Given the description of an element on the screen output the (x, y) to click on. 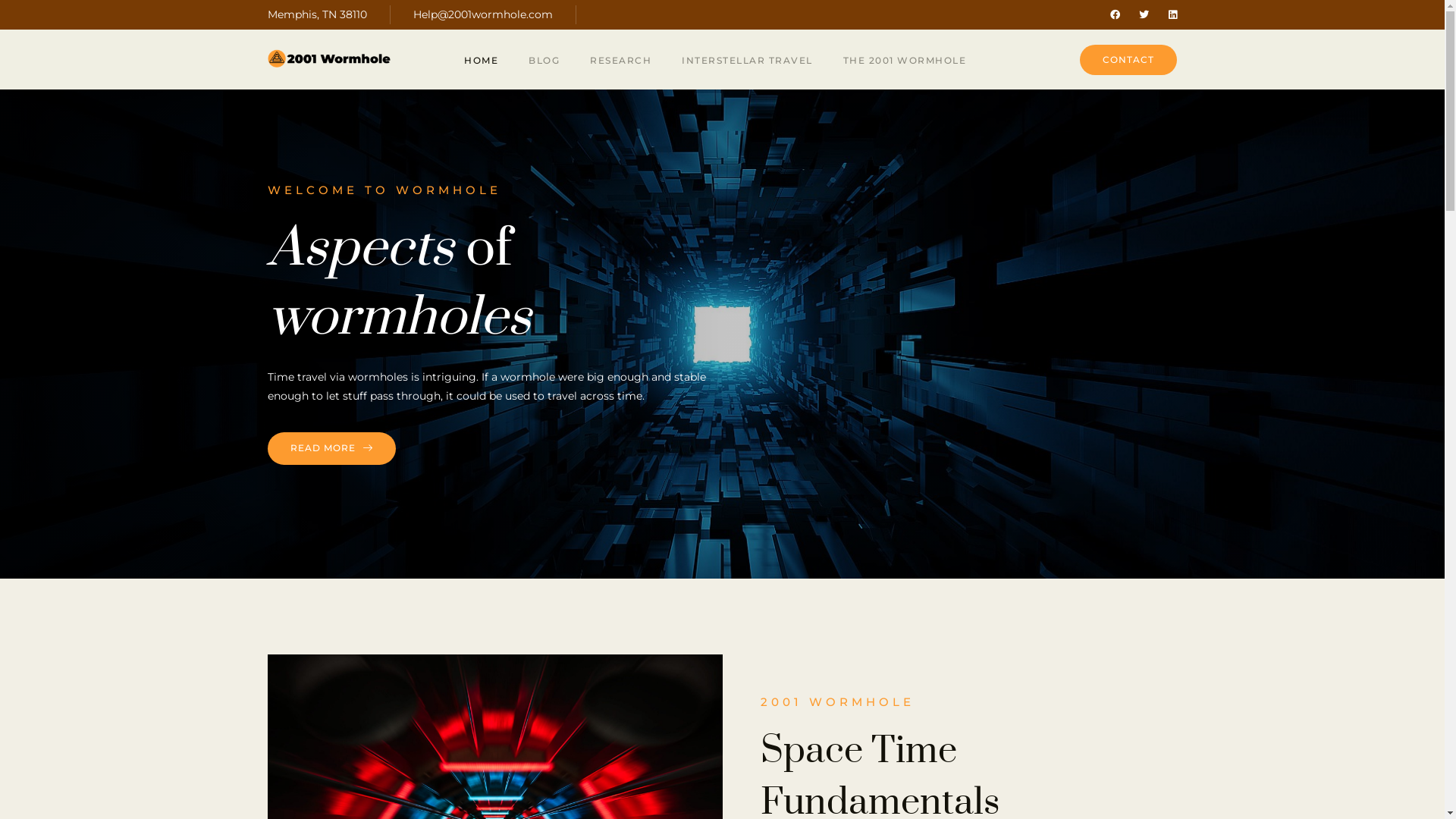
HOME Element type: text (480, 59)
BLOG Element type: text (543, 59)
Help@2001wormhole.com Element type: text (482, 14)
Memphis, TN 38110 Element type: text (316, 14)
THE 2001 WORMHOLE Element type: text (905, 59)
CONTACT Element type: text (1127, 59)
READ MORE Element type: text (330, 448)
INTERSTELLAR TRAVEL Element type: text (747, 59)
RESEARCH Element type: text (620, 59)
